Given the description of an element on the screen output the (x, y) to click on. 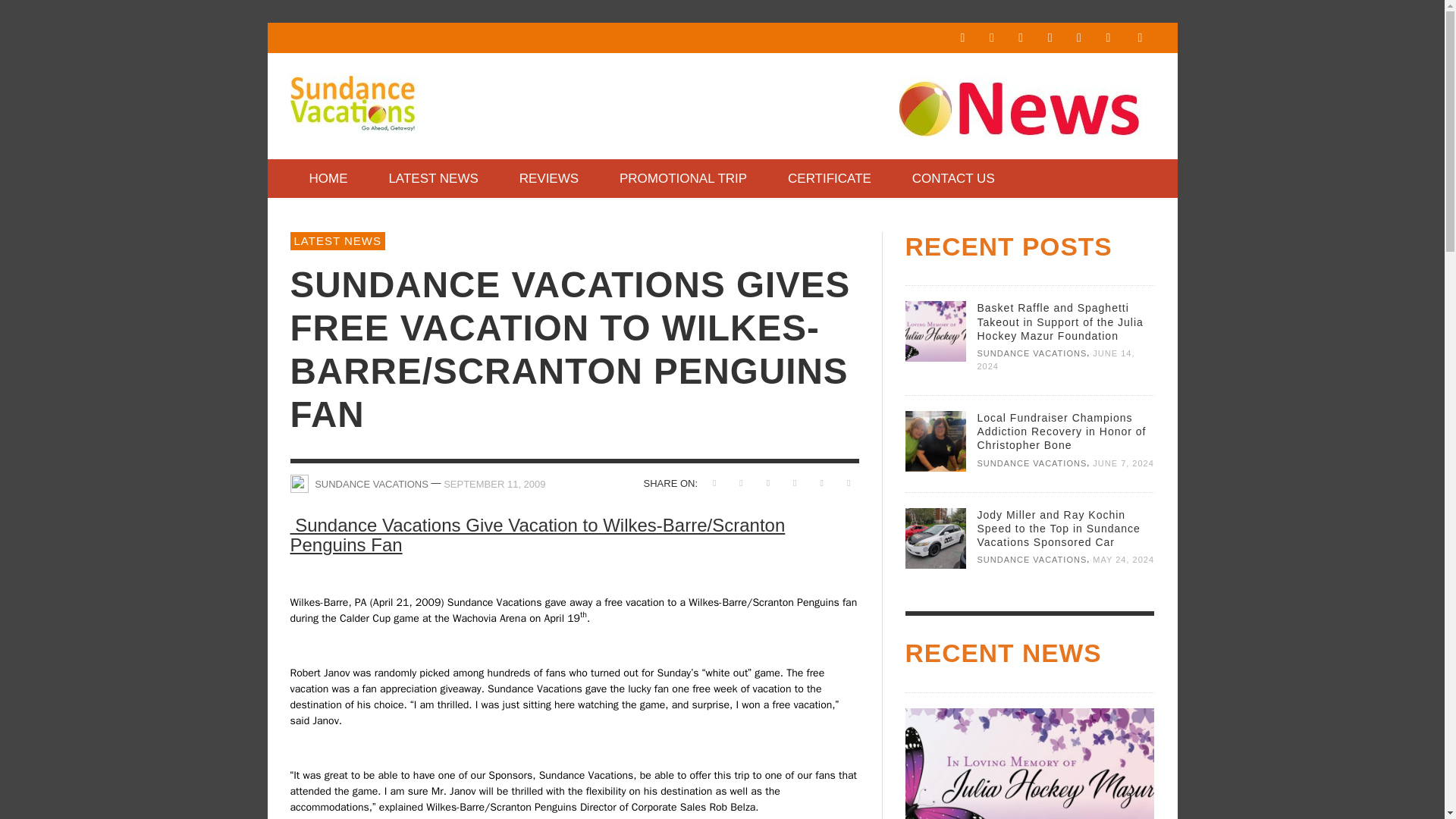
PROMOTIONAL TRIP (682, 178)
CERTIFICATE (828, 178)
Twitter (1078, 37)
LATEST NEWS (336, 240)
Facebook (961, 37)
LATEST NEWS (432, 178)
Pinterest (1049, 37)
HOME (327, 178)
Youtube (1107, 37)
CONTACT US (953, 178)
REVIEWS (548, 178)
LinkedIn (1020, 37)
Instagram (991, 37)
